Given the description of an element on the screen output the (x, y) to click on. 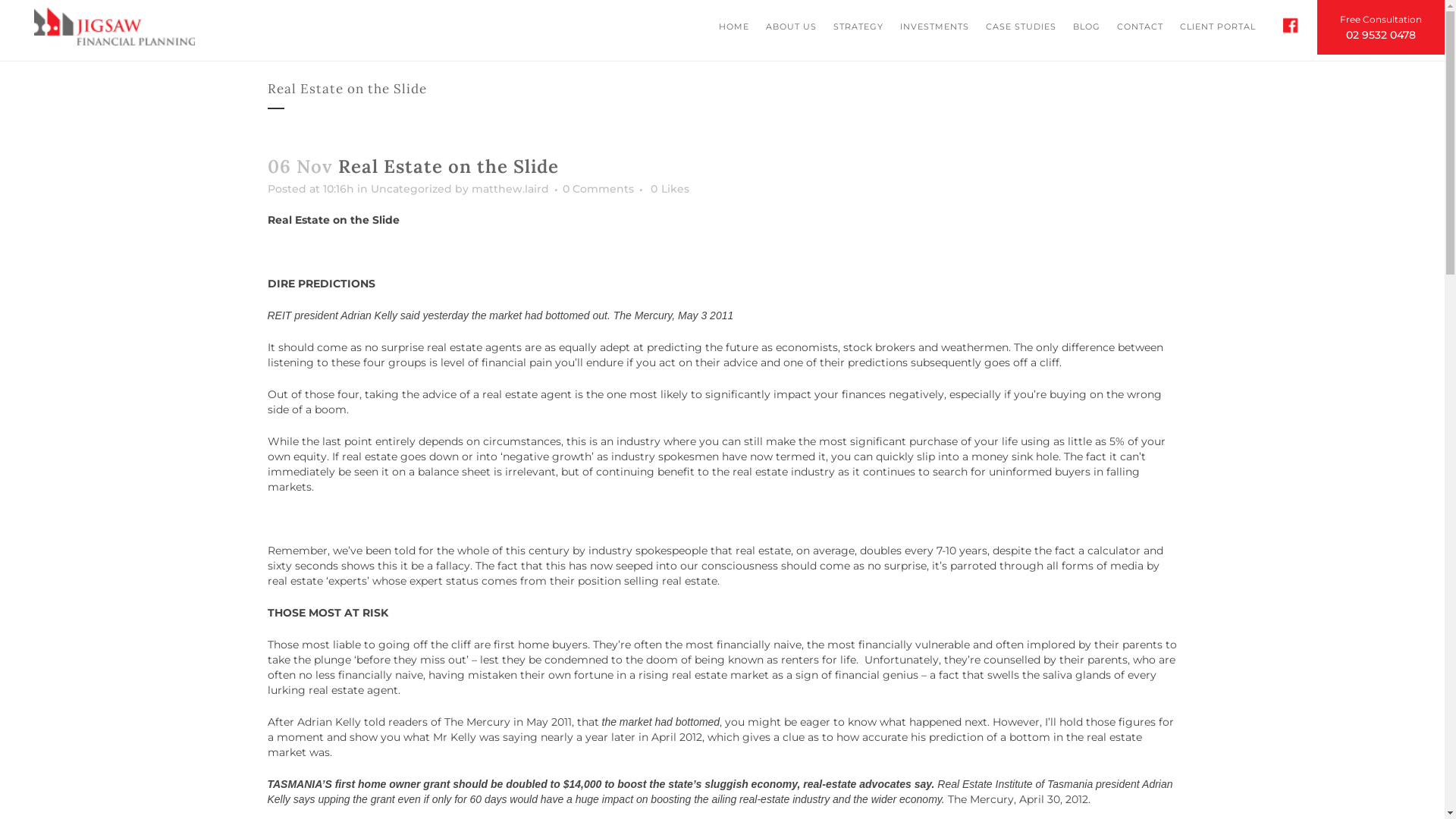
Uncategorized Element type: text (410, 188)
0 Likes Element type: text (669, 188)
0 Comments Element type: text (597, 188)
HOME Element type: text (733, 26)
matthew.laird Element type: text (510, 188)
INVESTMENTS Element type: text (934, 26)
BLOG Element type: text (1086, 26)
CLIENT PORTAL Element type: text (1217, 26)
CONTACT Element type: text (1139, 26)
CASE STUDIES Element type: text (1020, 26)
STRATEGY Element type: text (858, 26)
ABOUT US Element type: text (791, 26)
